Given the description of an element on the screen output the (x, y) to click on. 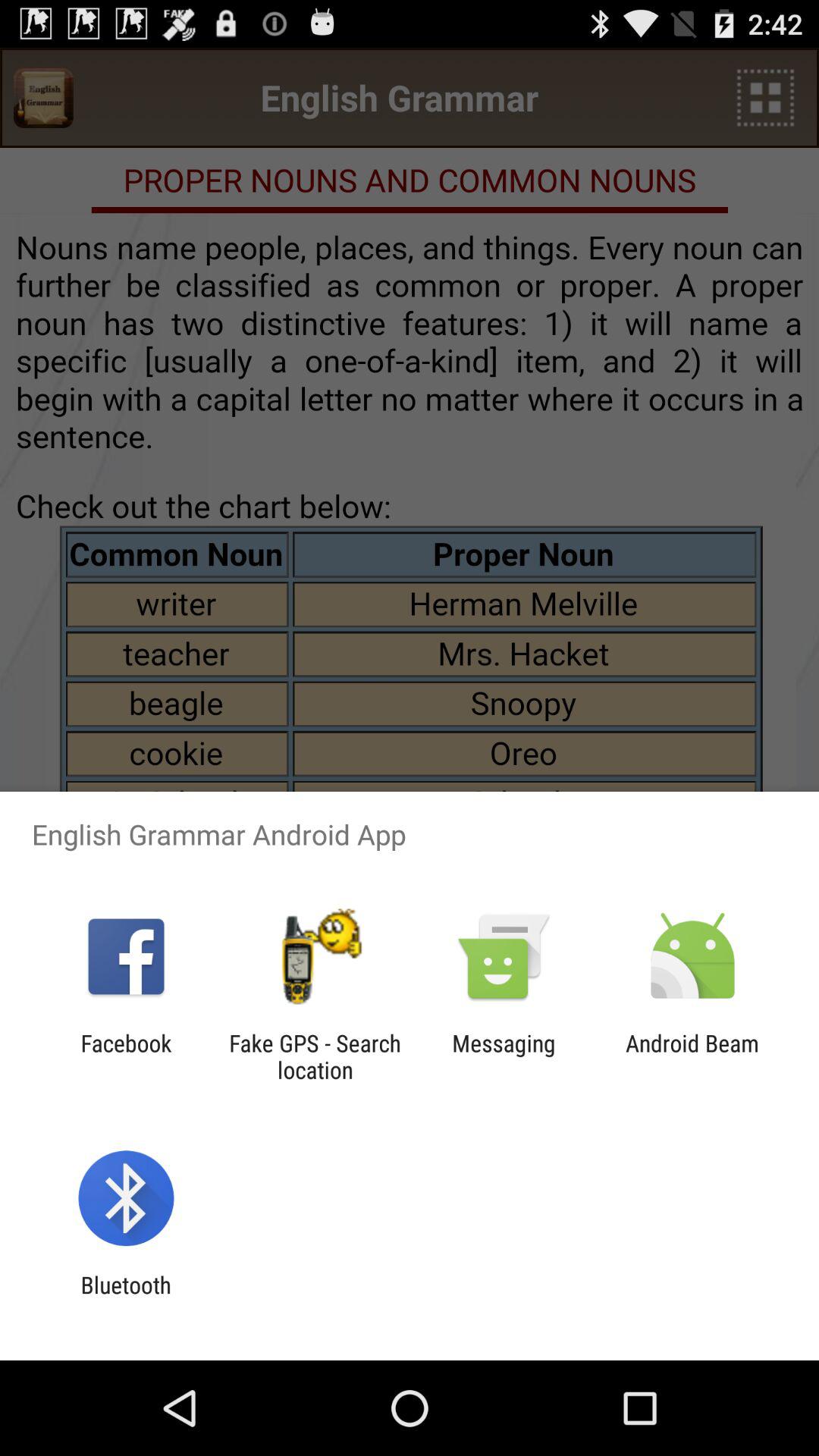
scroll to the android beam icon (692, 1056)
